Given the description of an element on the screen output the (x, y) to click on. 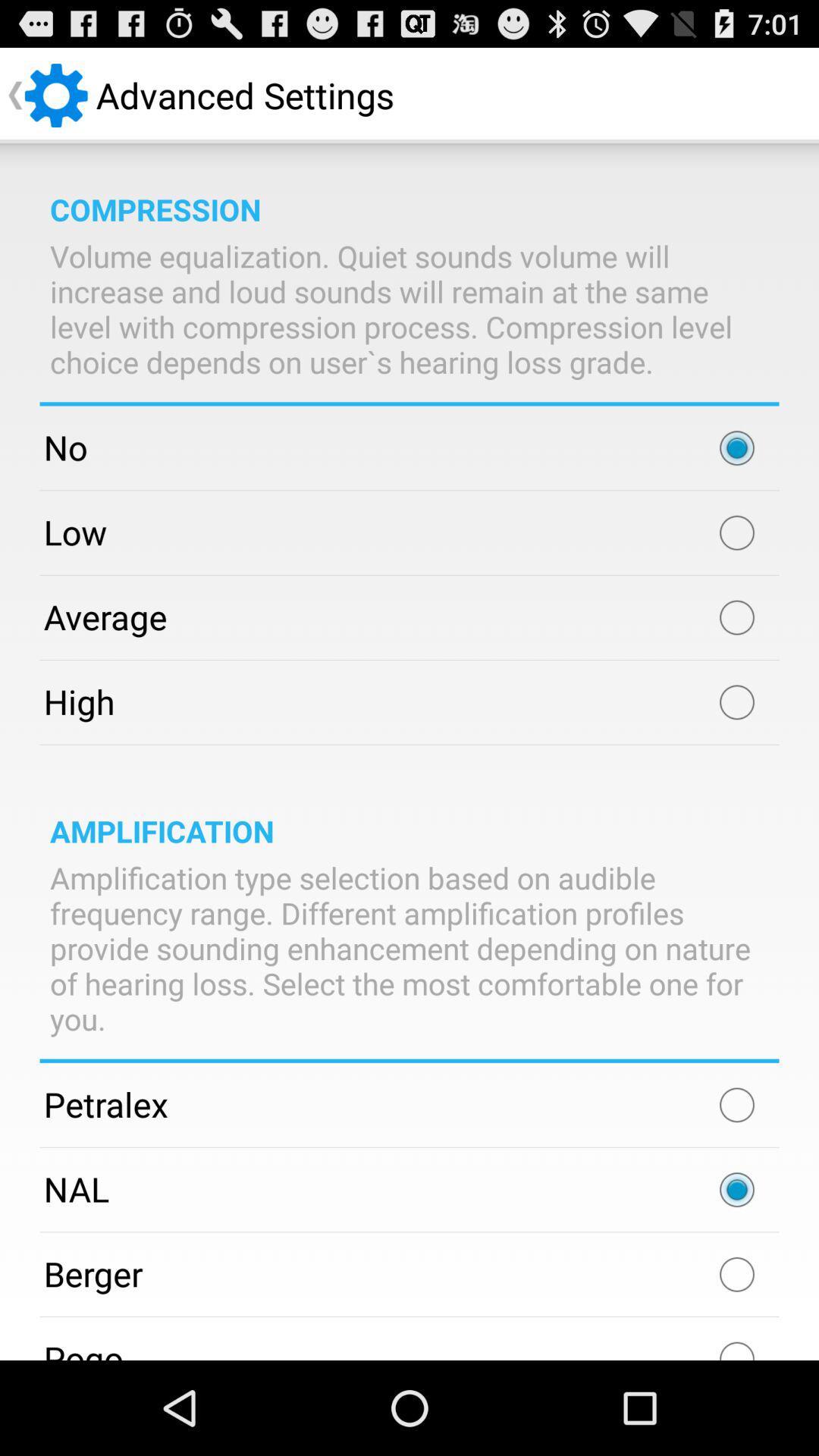
select the icon to the right of petralex item (736, 1104)
